Given the description of an element on the screen output the (x, y) to click on. 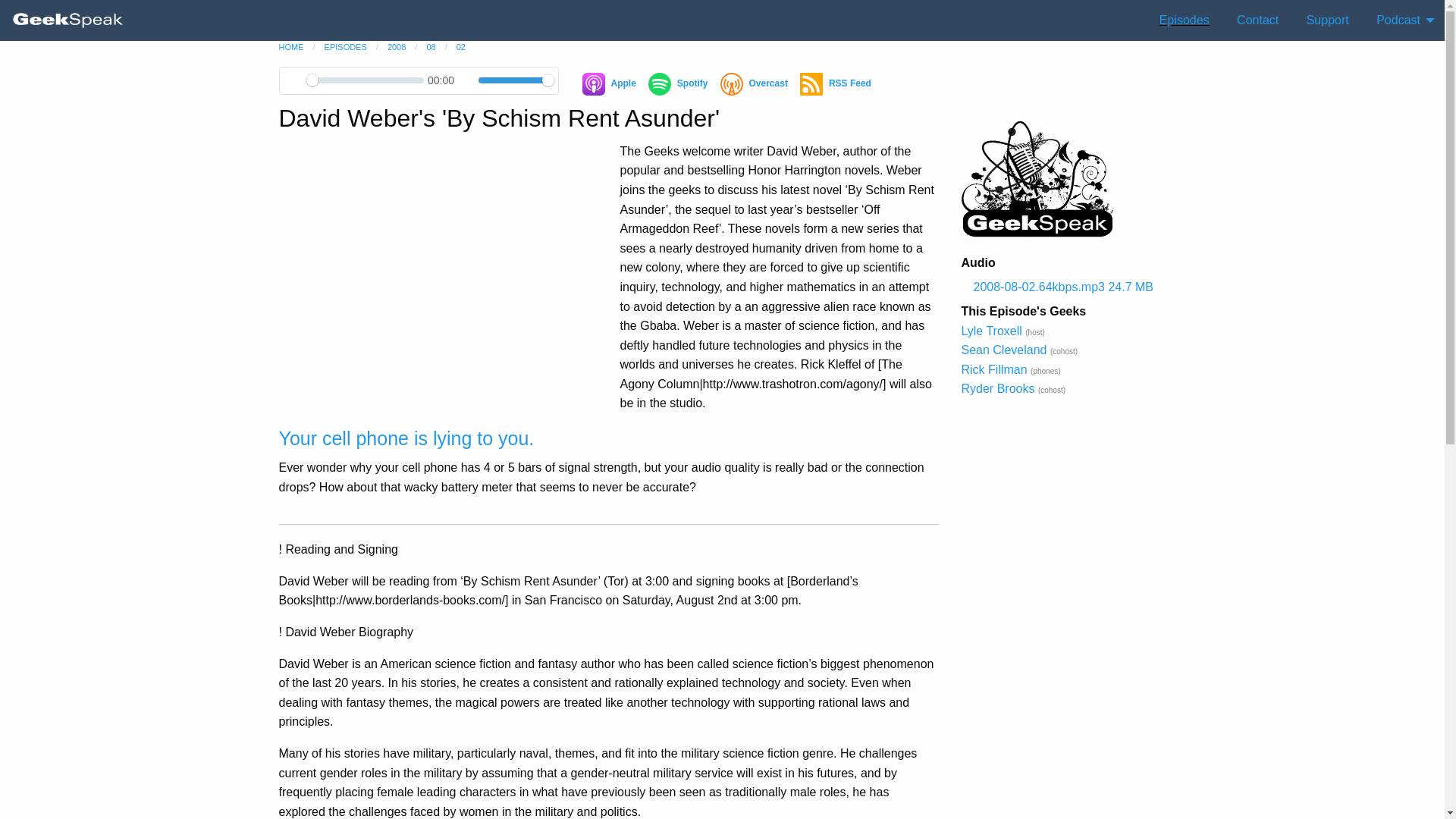
Play (292, 80)
Apple (609, 83)
Overcast (753, 83)
Lyle Troxell (991, 330)
Support (1327, 20)
Episodes (1184, 20)
Toggle Mute (467, 80)
Your cell phone is lying to you. (406, 437)
HOME (291, 46)
Ryder Brooks (997, 388)
